Given the description of an element on the screen output the (x, y) to click on. 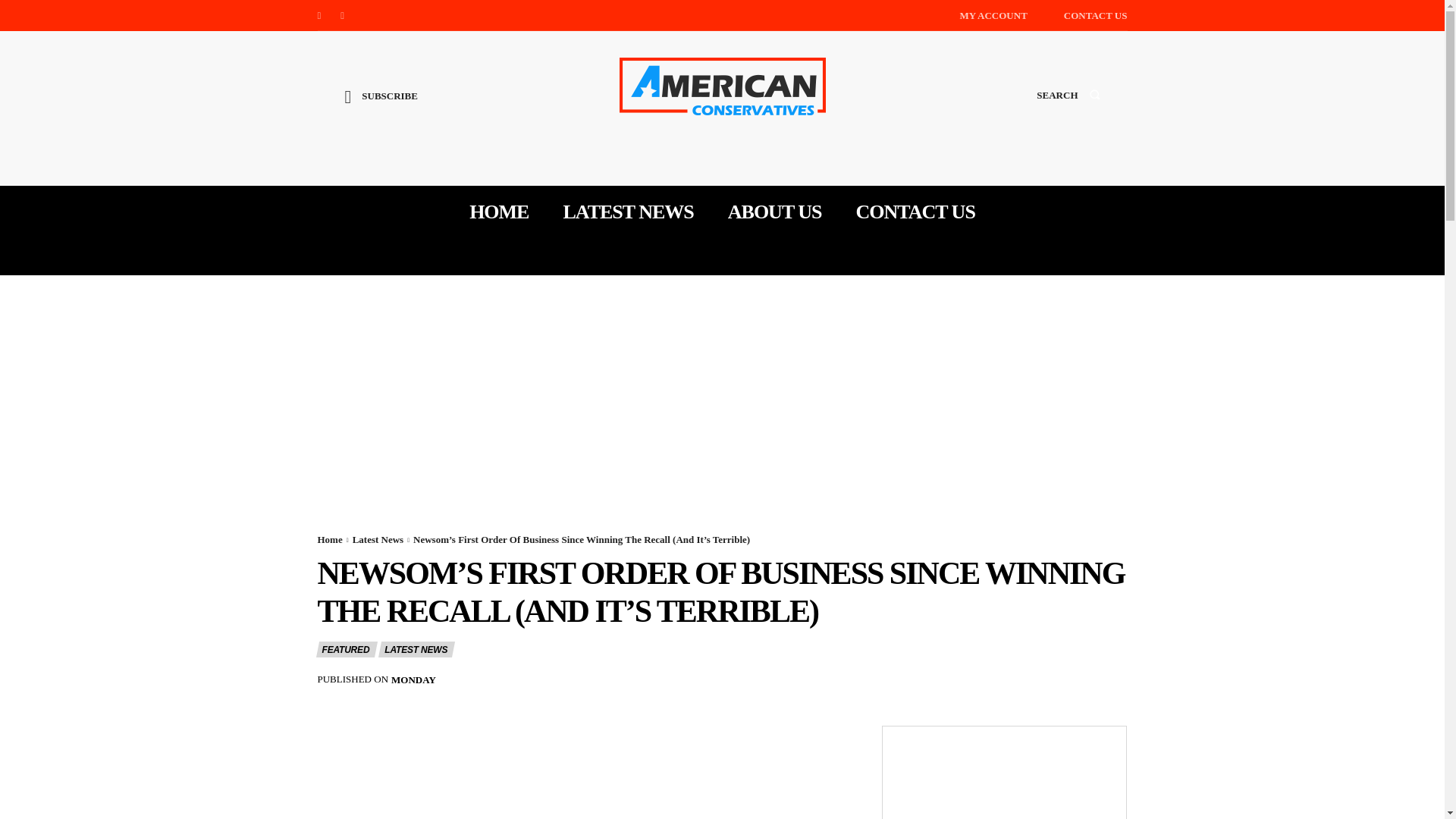
Home (329, 539)
MY ACCOUNT (992, 15)
Subscribe (380, 107)
My Account (992, 15)
Facebook (318, 15)
CONTACT US (1095, 15)
LATEST NEWS (627, 212)
Latest News (378, 539)
Twitter (342, 15)
SEARCH (1067, 109)
ABOUT US (775, 212)
Search (1067, 109)
View all posts in Latest News (378, 539)
FEATURED (346, 649)
HOME (498, 212)
